Given the description of an element on the screen output the (x, y) to click on. 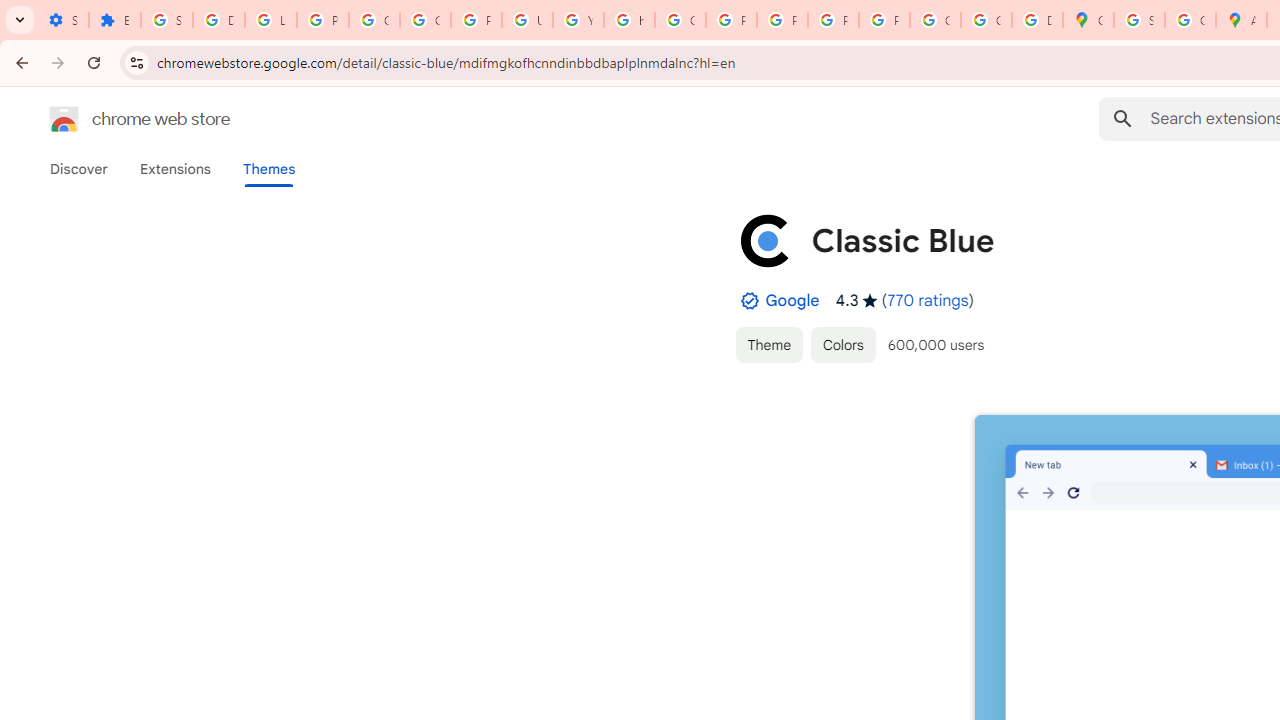
Sign in - Google Accounts (166, 20)
Theme (768, 344)
Colors (843, 344)
Chrome Web Store logo chrome web store (118, 118)
Sign in - Google Accounts (1138, 20)
By Established Publisher Badge (749, 301)
Create your Google Account (1189, 20)
Google Maps (1087, 20)
Settings - On startup (63, 20)
